Given the description of an element on the screen output the (x, y) to click on. 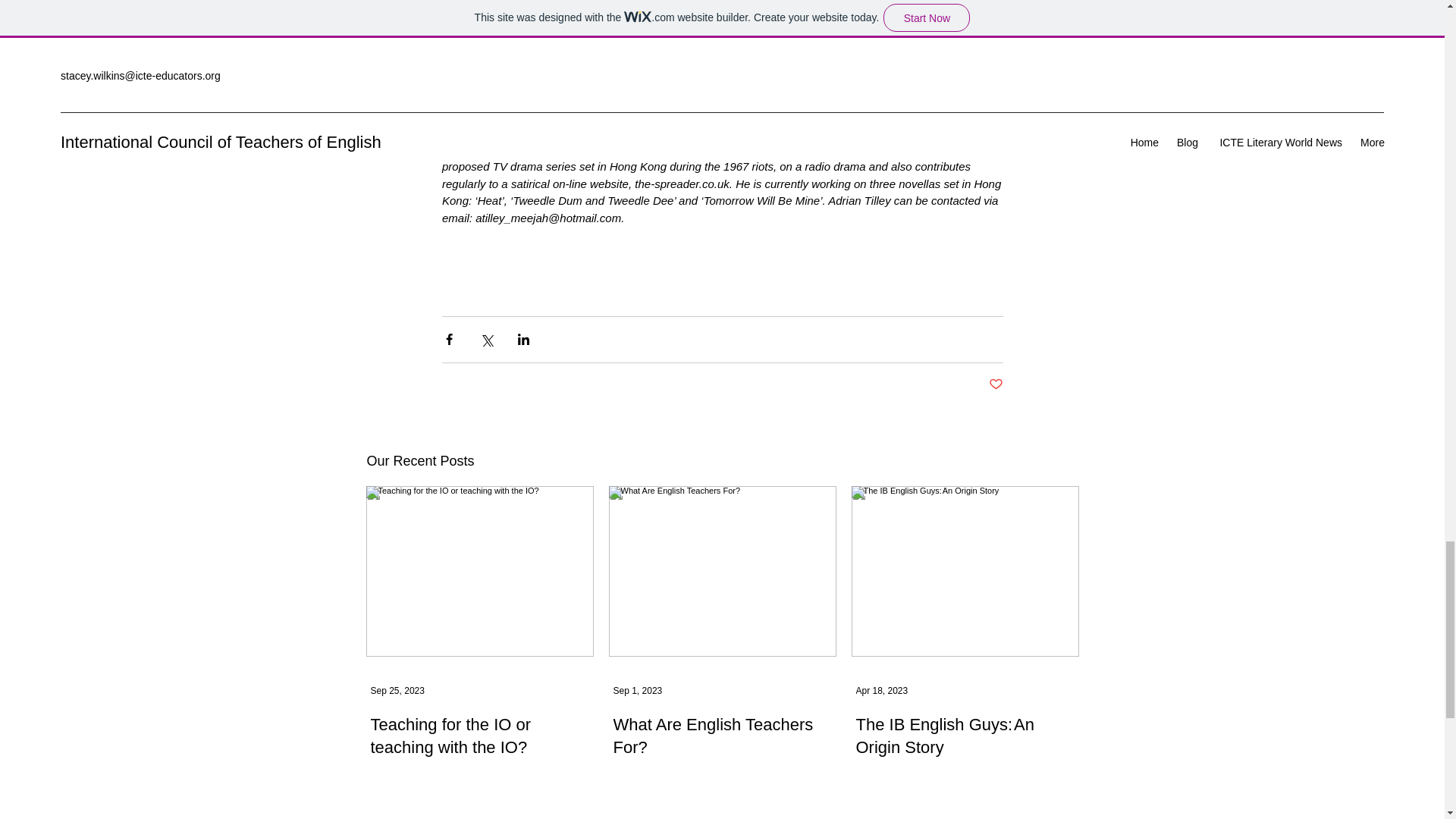
Sep 25, 2023 (396, 690)
Post not marked as liked (995, 384)
What Are English Teachers For? (721, 736)
Apr 18, 2023 (881, 690)
Sep 1, 2023 (637, 690)
Teaching for the IO or teaching with the IO? (478, 736)
